Given the description of an element on the screen output the (x, y) to click on. 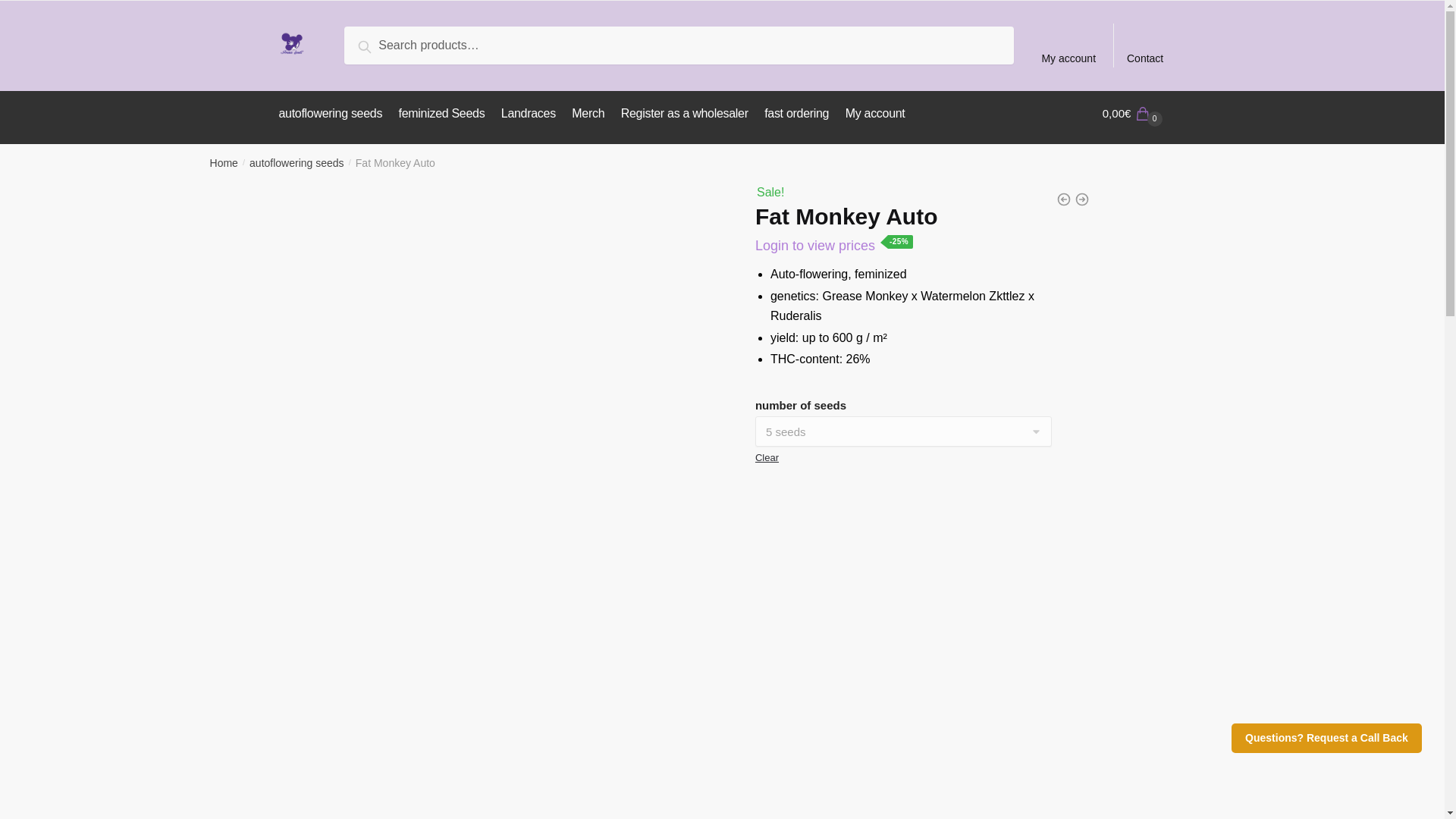
My account (875, 113)
Landraces (528, 113)
Clear (766, 457)
autoflowering seeds (295, 162)
autoflowering seeds (333, 113)
Contact (1145, 45)
Questions? Request a Call Back (1326, 737)
Register as a wholesaler (684, 113)
Merch (588, 113)
Search (381, 43)
View your shopping cart (1134, 113)
feminized Seeds (442, 113)
fast ordering (796, 113)
Home (223, 162)
My account (1068, 45)
